Given the description of an element on the screen output the (x, y) to click on. 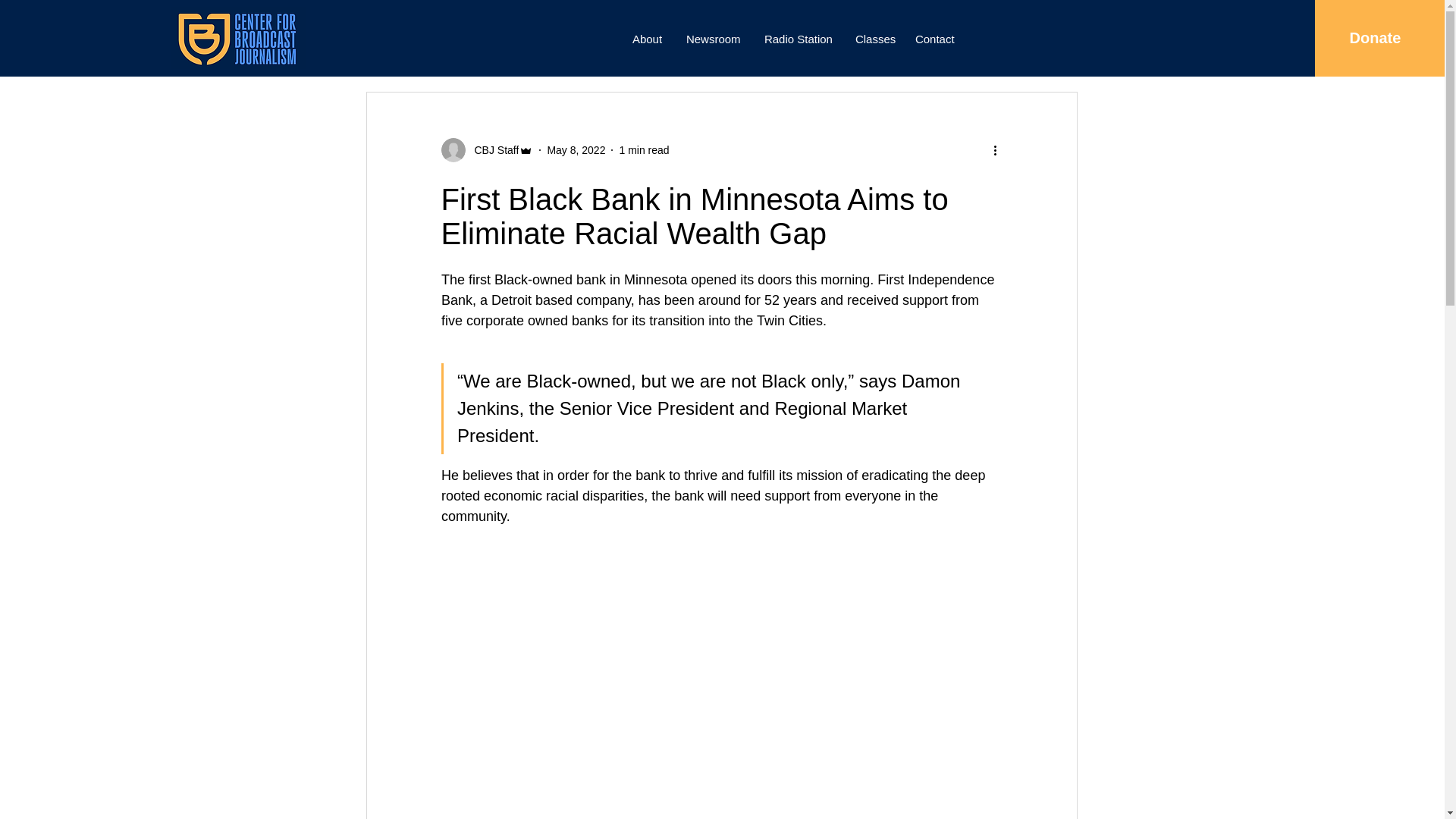
CBJ Staff (492, 150)
May 8, 2022 (576, 150)
1 min read (643, 150)
Donate (1374, 37)
Radio Station (798, 39)
About (648, 39)
Classes (874, 39)
Contact (935, 39)
CBJ Staff (487, 150)
Newsroom (713, 39)
